Given the description of an element on the screen output the (x, y) to click on. 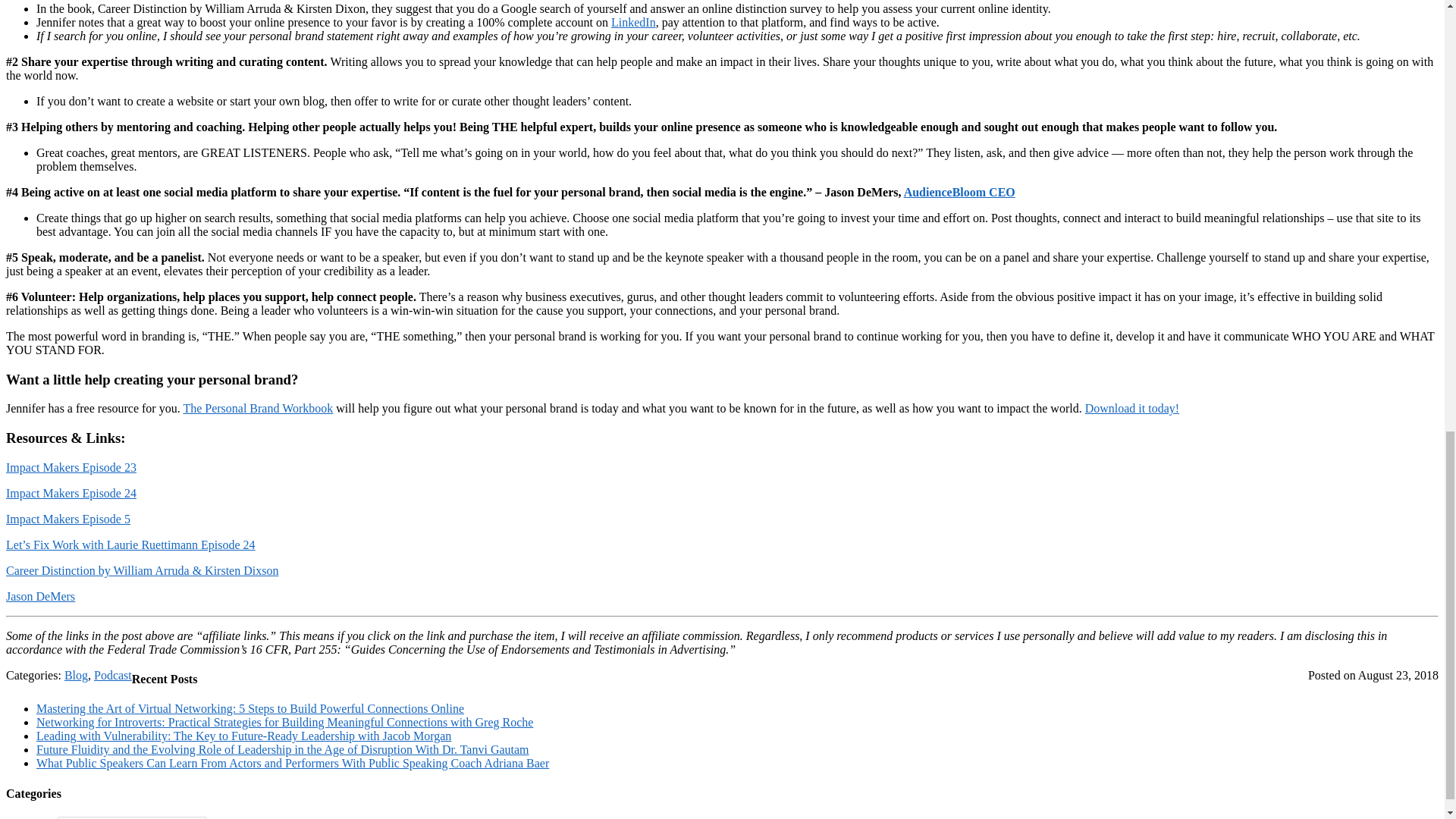
Download it today! (1131, 408)
LinkedIn (633, 21)
Impact Makers Episode 5 (68, 518)
Impact Makers Episode 24 (70, 492)
Impact Makers Episode 23 (70, 467)
Jason DeMers (40, 595)
Podcast (113, 675)
